Given the description of an element on the screen output the (x, y) to click on. 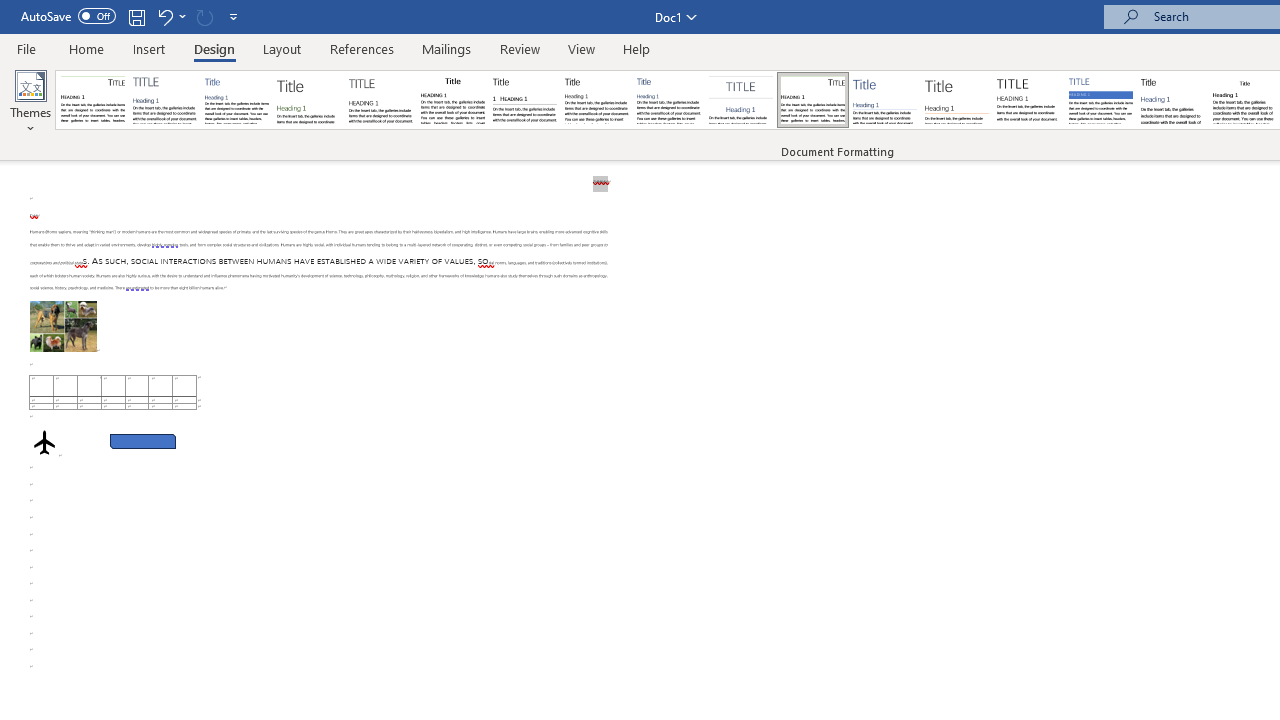
Black & White (Numbered) (524, 100)
Themes (30, 102)
Black & White (Word 2013) (596, 100)
Customize Quick Access Toolbar (234, 15)
Home (86, 48)
Mailings (447, 48)
Black & White (Classic) (452, 100)
Basic (Stylish) (308, 100)
Lines (Stylish) (957, 100)
File Tab (26, 48)
Word (1172, 100)
Basic (Elegant) (164, 100)
Morphological variation in six dogs (63, 326)
More Options (182, 15)
References (362, 48)
